Given the description of an element on the screen output the (x, y) to click on. 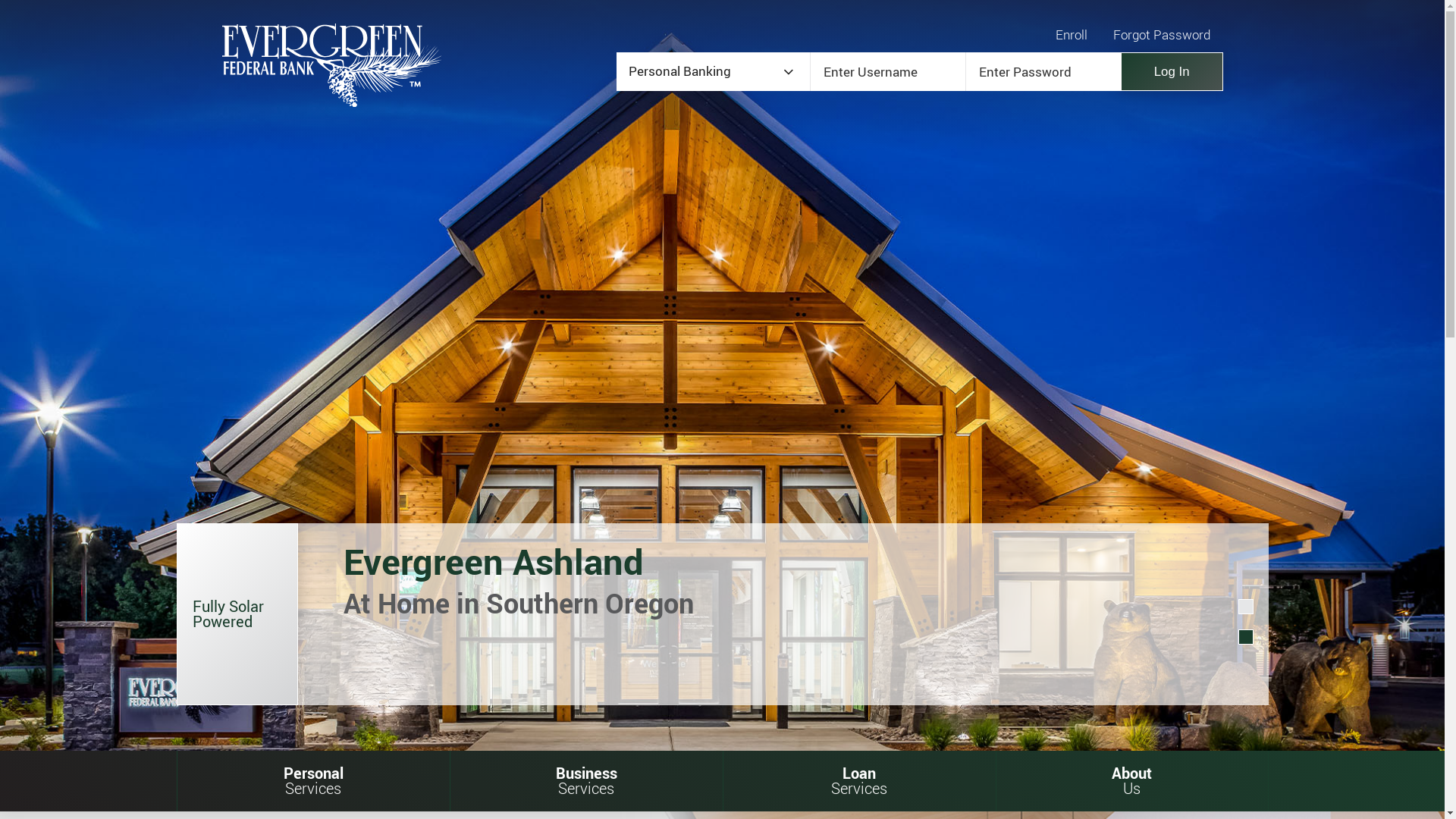
Forgot Password Element type: text (1161, 34)
Enroll Element type: text (1071, 34)
Log In Element type: text (1171, 71)
1Fall Mobile Slider Element type: text (1245, 606)
Fully Solar Powered Element type: text (117, 614)
2Evergreen Ashland At Home Element type: text (1245, 636)
